Given the description of an element on the screen output the (x, y) to click on. 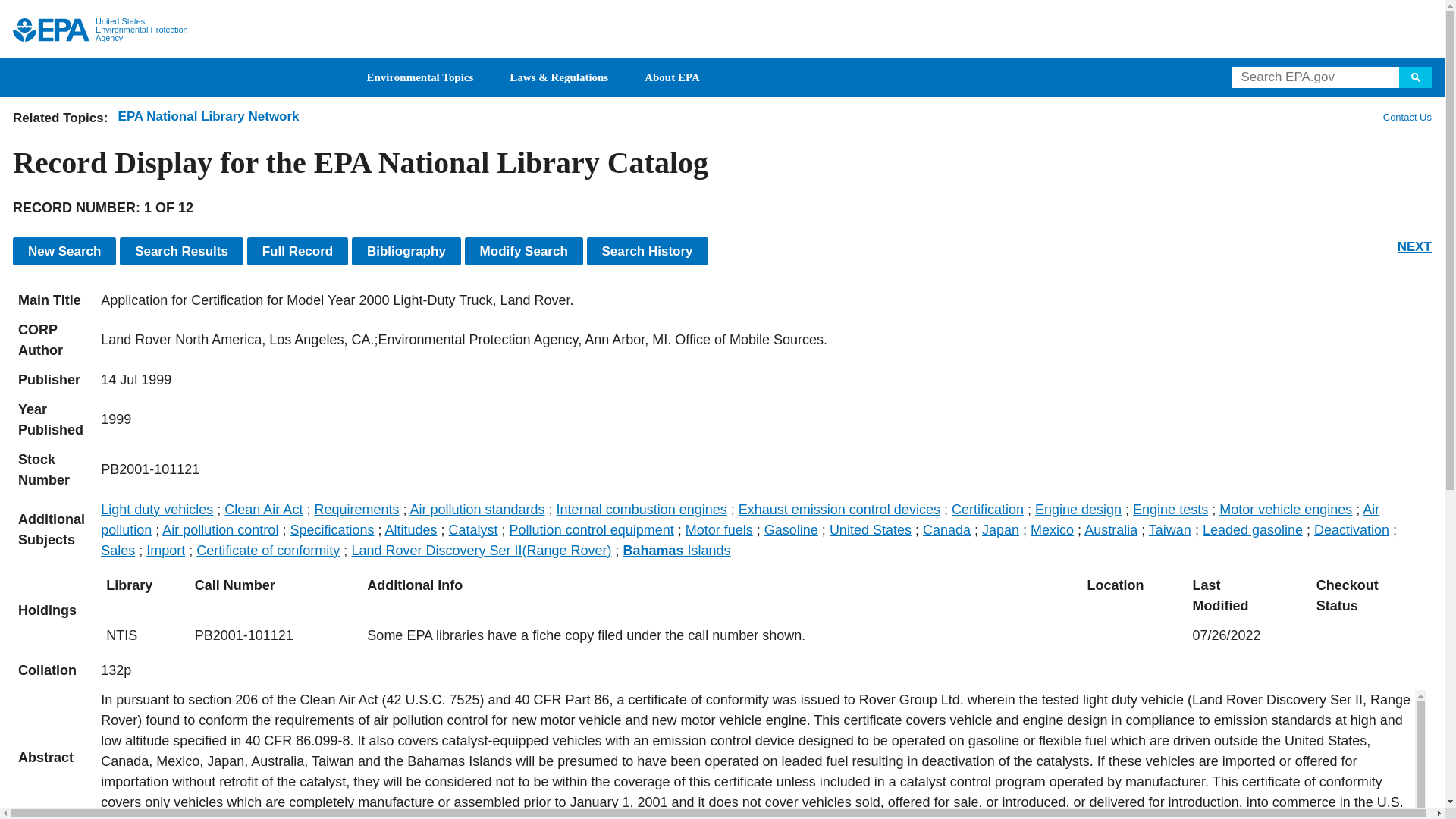
US EPA (50, 29)
Full Record (298, 251)
Engine design (1078, 509)
Gasoline (791, 529)
Air pollution (739, 519)
Specifications (331, 529)
Canada (947, 529)
Contact Us (1406, 117)
Altitudes (410, 529)
Light duty vehicles (156, 509)
Leaded gasoline (1252, 529)
Search (1415, 76)
Bibliography (406, 251)
Motor fuels (718, 529)
Environmental Topics (420, 77)
